Given the description of an element on the screen output the (x, y) to click on. 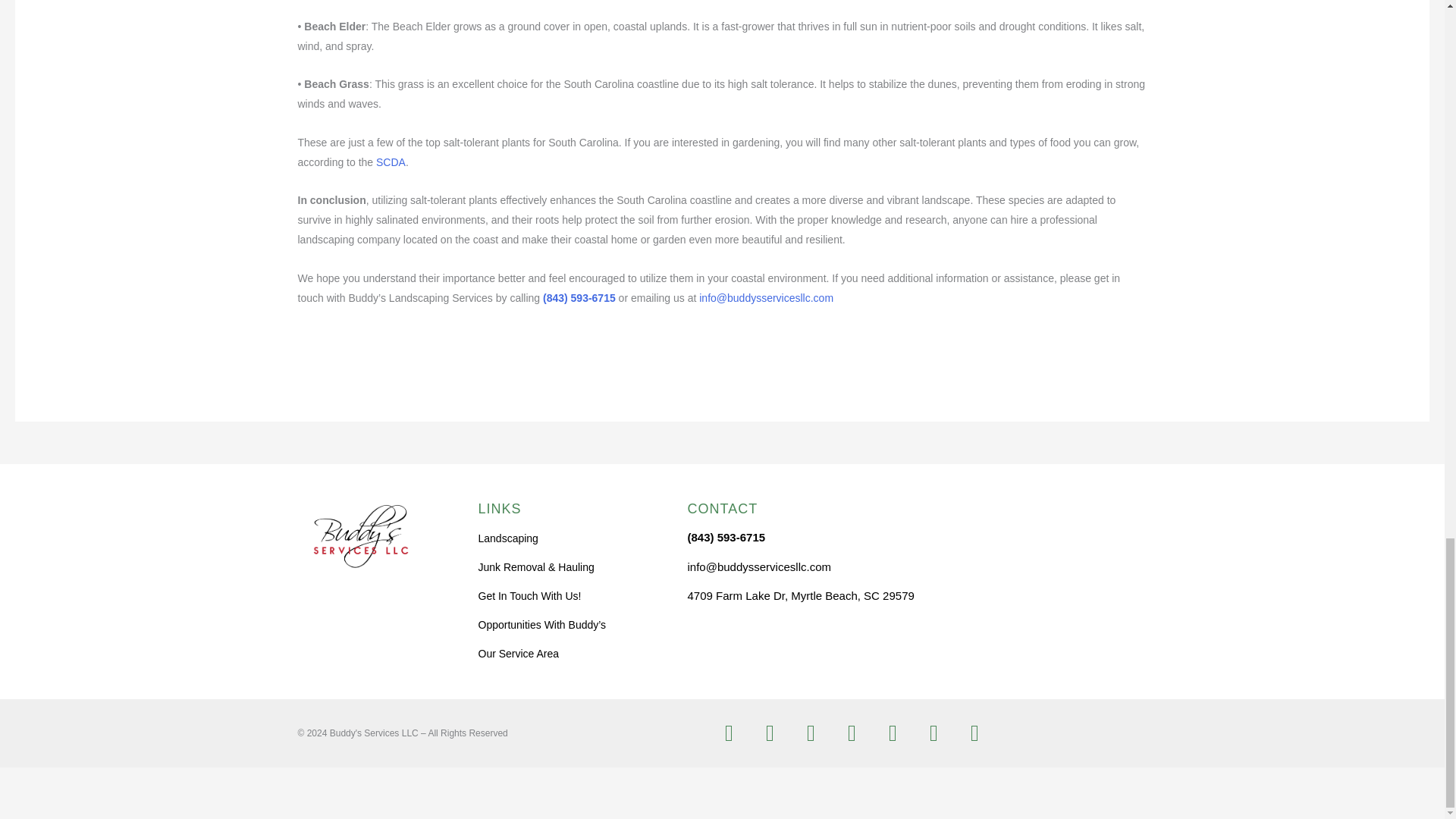
Get In Touch With Us! (566, 595)
Landscaping (566, 538)
SCDA (390, 162)
